Given the description of an element on the screen output the (x, y) to click on. 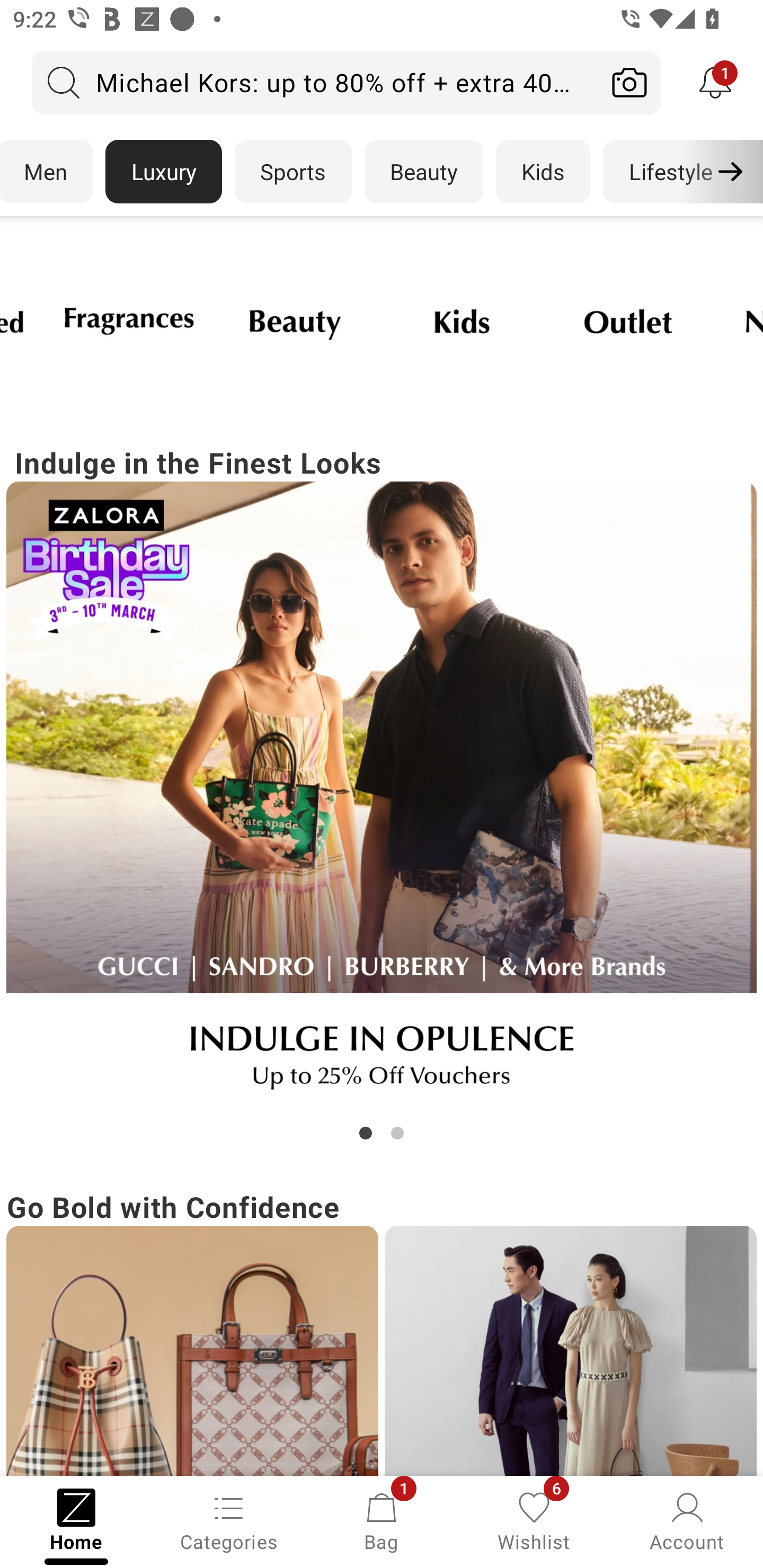
Michael Kors: up to 80% off + extra 40% off (314, 82)
Men (46, 171)
Luxury (163, 171)
Sports (293, 171)
Beauty (423, 171)
Kids (542, 171)
Lifestyle (669, 171)
Campaign banner (128, 321)
Campaign banner (295, 321)
Campaign banner (461, 321)
Campaign banner (627, 321)
 Indulge in the Finest Looks Campaign banner (381, 792)
Campaign banner (381, 797)
Campaign banner (192, 1350)
Campaign banner (570, 1350)
Categories (228, 1519)
Bag, 1 new notification Bag (381, 1519)
Wishlist, 6 new notifications Wishlist (533, 1519)
Account (686, 1519)
